Given the description of an element on the screen output the (x, y) to click on. 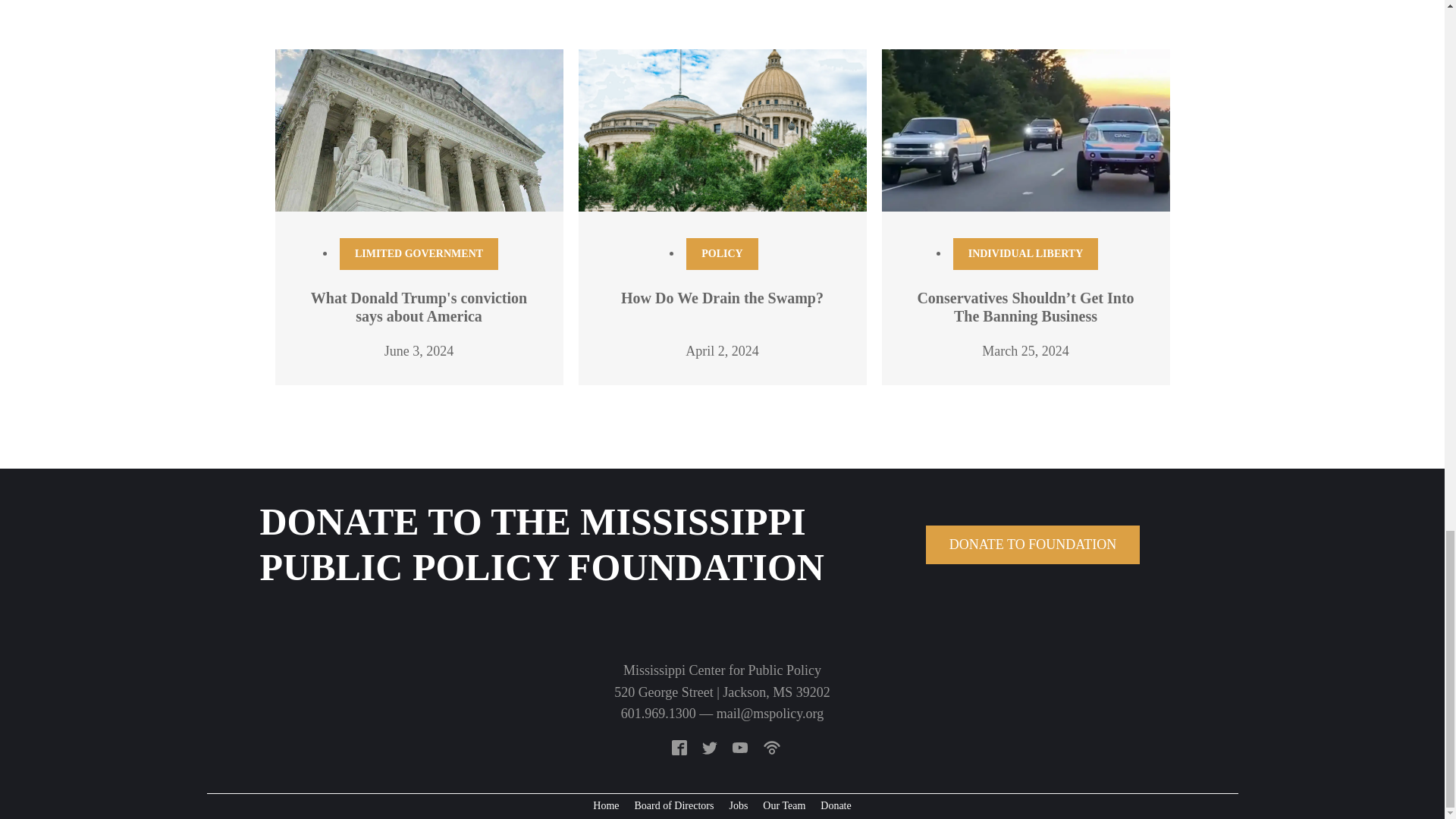
What Donald Trump's conviction says about America (419, 306)
LIMITED GOVERNMENT (418, 254)
POLICY (721, 254)
How Do We Drain the Swamp? (722, 297)
